Given the description of an element on the screen output the (x, y) to click on. 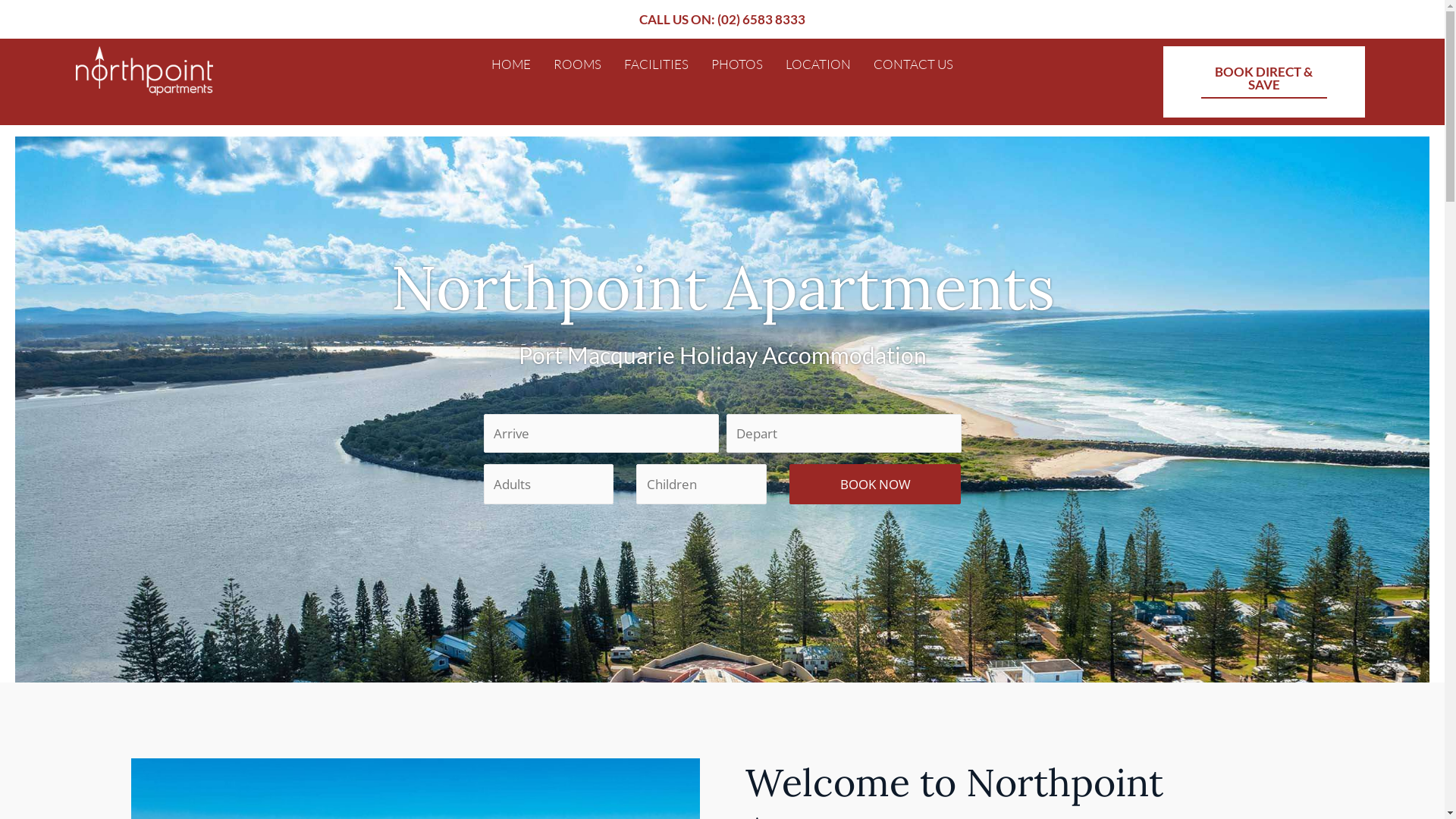
Northpoint Apartments Element type: text (721, 287)
BOOK DIRECT & SAVE Element type: text (1264, 81)
LOCATION Element type: text (818, 63)
HOME Element type: text (511, 63)
PHOTOS Element type: text (736, 63)
CONTACT US Element type: text (913, 63)
CALL US ON: (02) 6583 8333 Element type: text (722, 19)
BOOK NOW Element type: text (874, 484)
FACILITIES Element type: text (655, 63)
ROOMS Element type: text (577, 63)
